Given the description of an element on the screen output the (x, y) to click on. 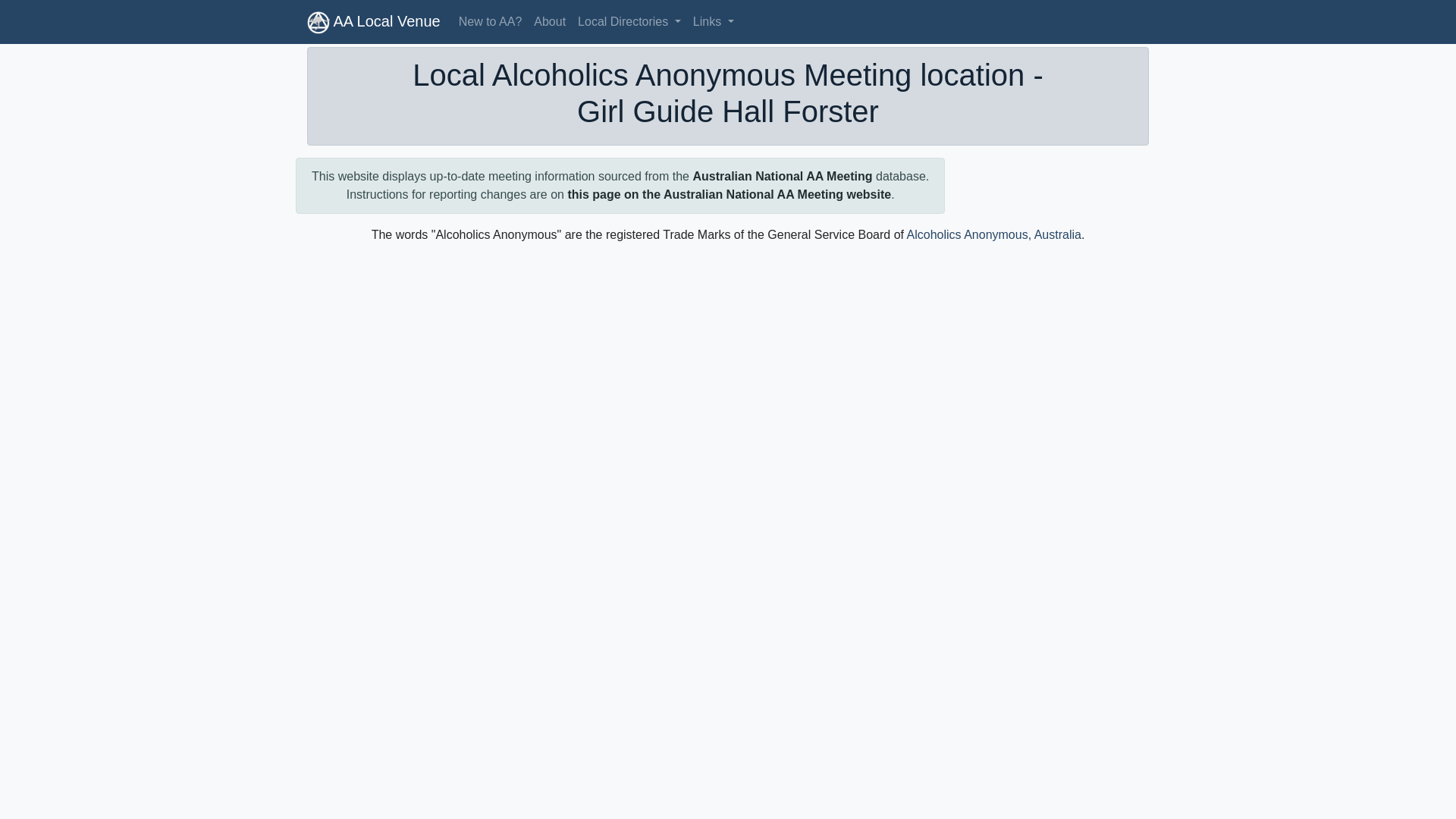
Australian National AA Meeting (782, 175)
About (549, 21)
Local Directories (629, 21)
New to AA? (490, 21)
this page on the Australian National AA Meeting website (729, 194)
Alcoholics Anonymous, Australia (994, 234)
AA Local Venue (374, 21)
Links (713, 21)
